Given the description of an element on the screen output the (x, y) to click on. 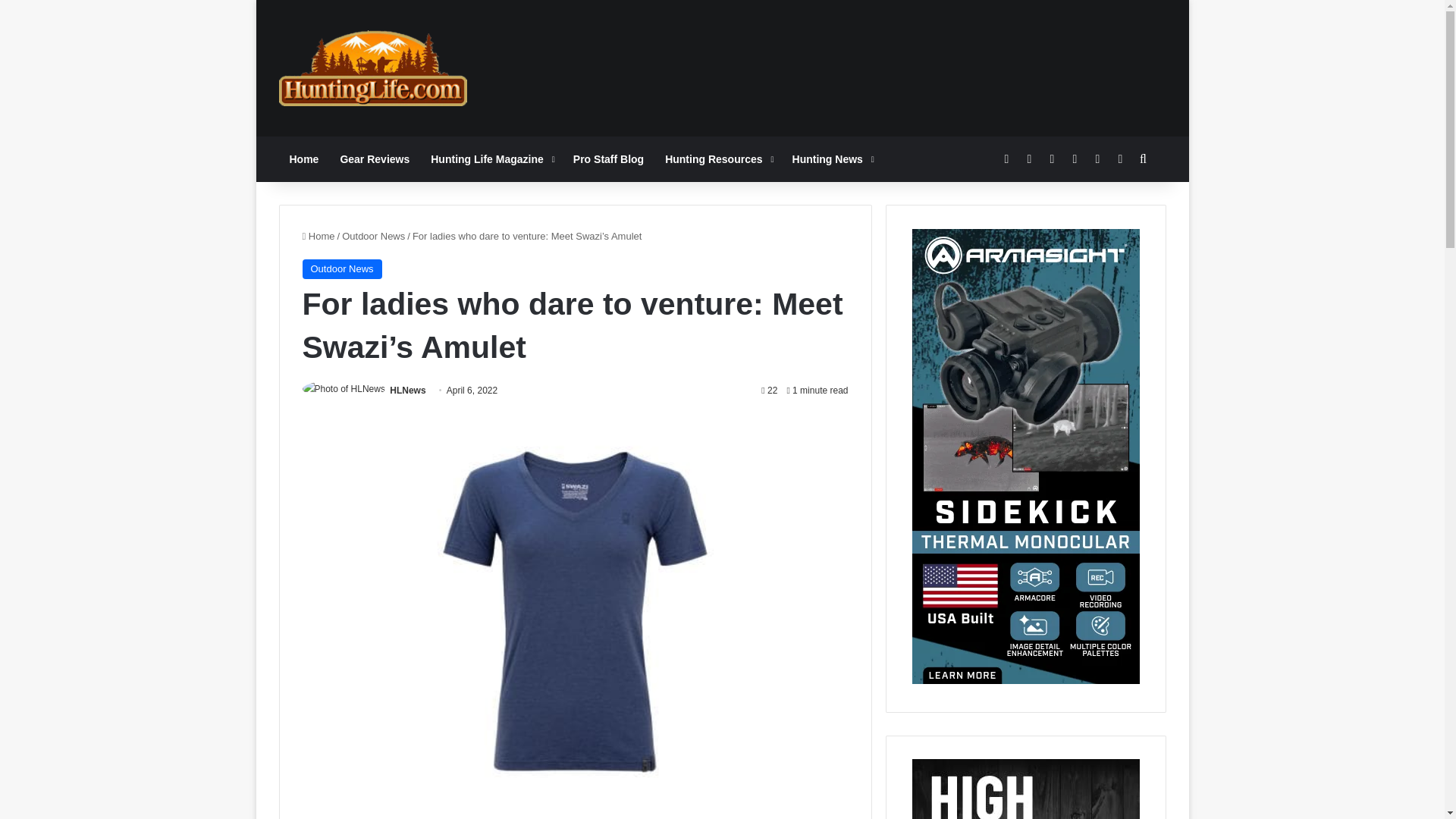
Pro Staff Blog (607, 158)
HuntingLife.com (373, 68)
Hunting News (831, 158)
Outdoor News (341, 269)
Home (304, 158)
Gear Reviews (374, 158)
Outdoor News (373, 235)
Hunting Resources (716, 158)
HLNews (407, 389)
HLNews (407, 389)
